Given the description of an element on the screen output the (x, y) to click on. 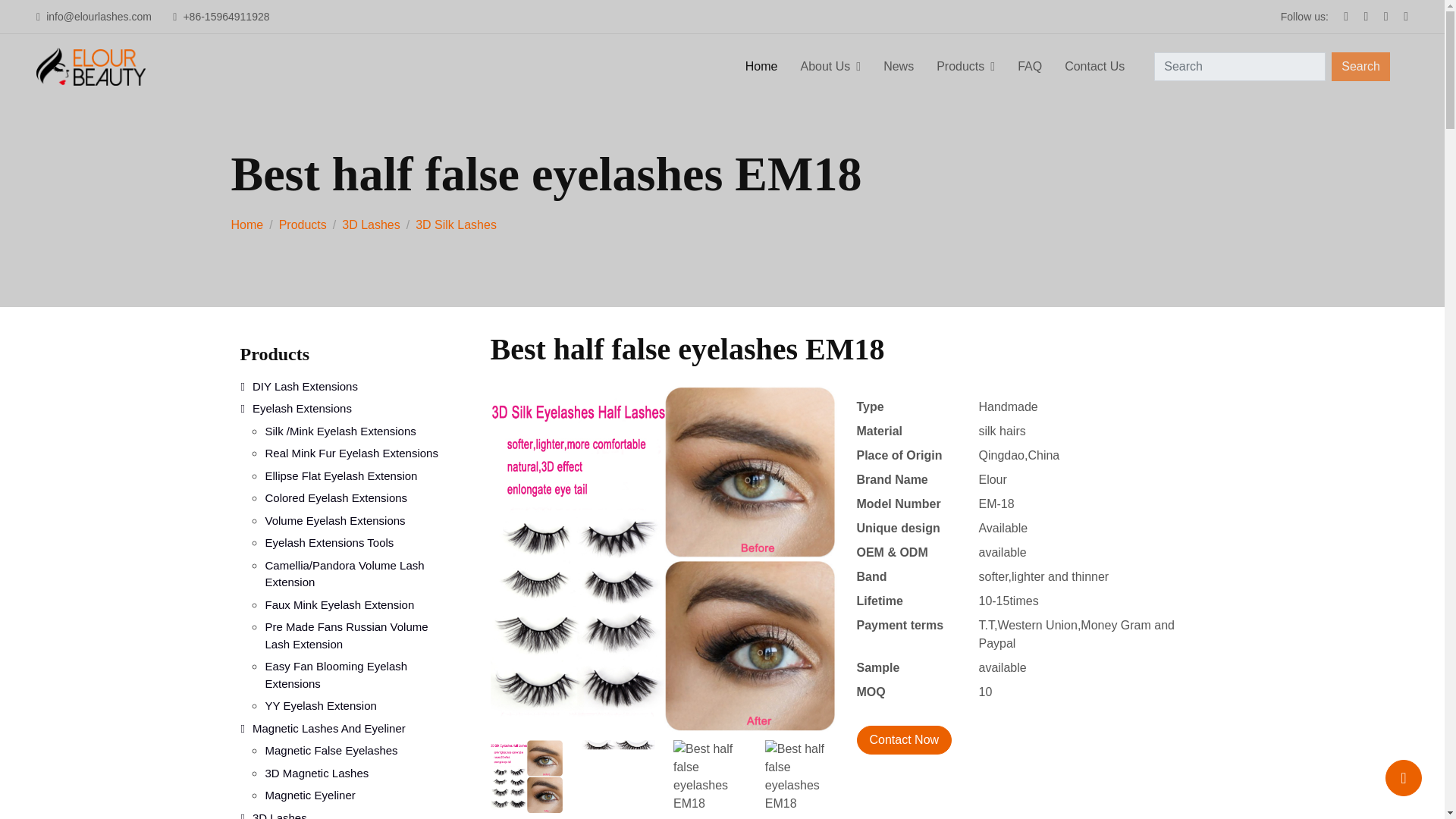
News (898, 66)
3D Silk Lashes (455, 224)
Contact Now (904, 739)
3D Lashes (371, 224)
Contact Us (1093, 66)
Home (761, 66)
Search (1361, 66)
Products (965, 66)
About Us (830, 66)
Products (302, 224)
